Given the description of an element on the screen output the (x, y) to click on. 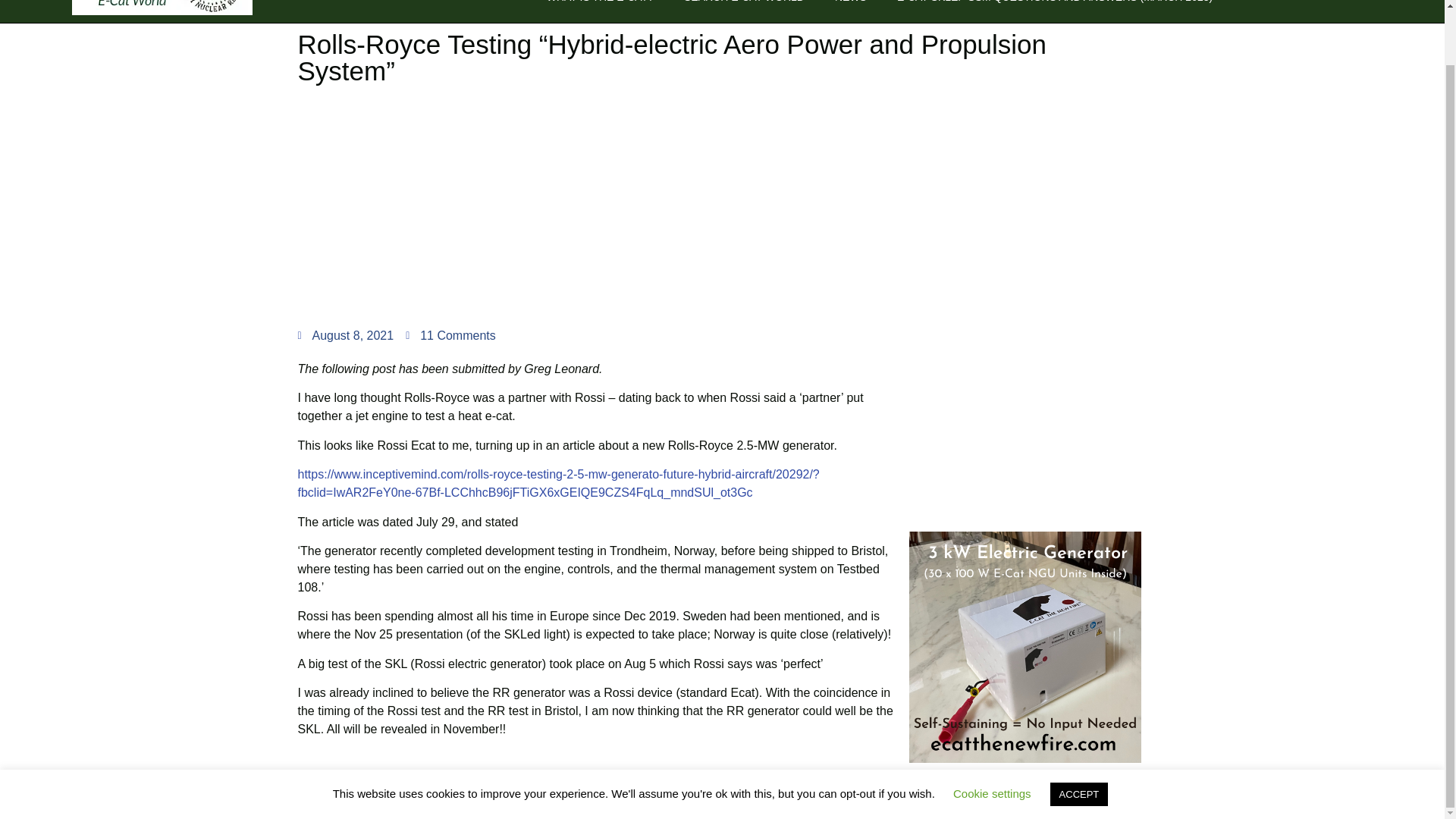
August 8, 2021 (345, 335)
WHAT IS THE E-CAT? (600, 2)
ACCEPT (1078, 734)
SEARCH E-CAT WORLD (744, 2)
11 Comments (451, 335)
Advertisement (1024, 421)
NEWS (850, 2)
Cookie settings (991, 734)
